Given the description of an element on the screen output the (x, y) to click on. 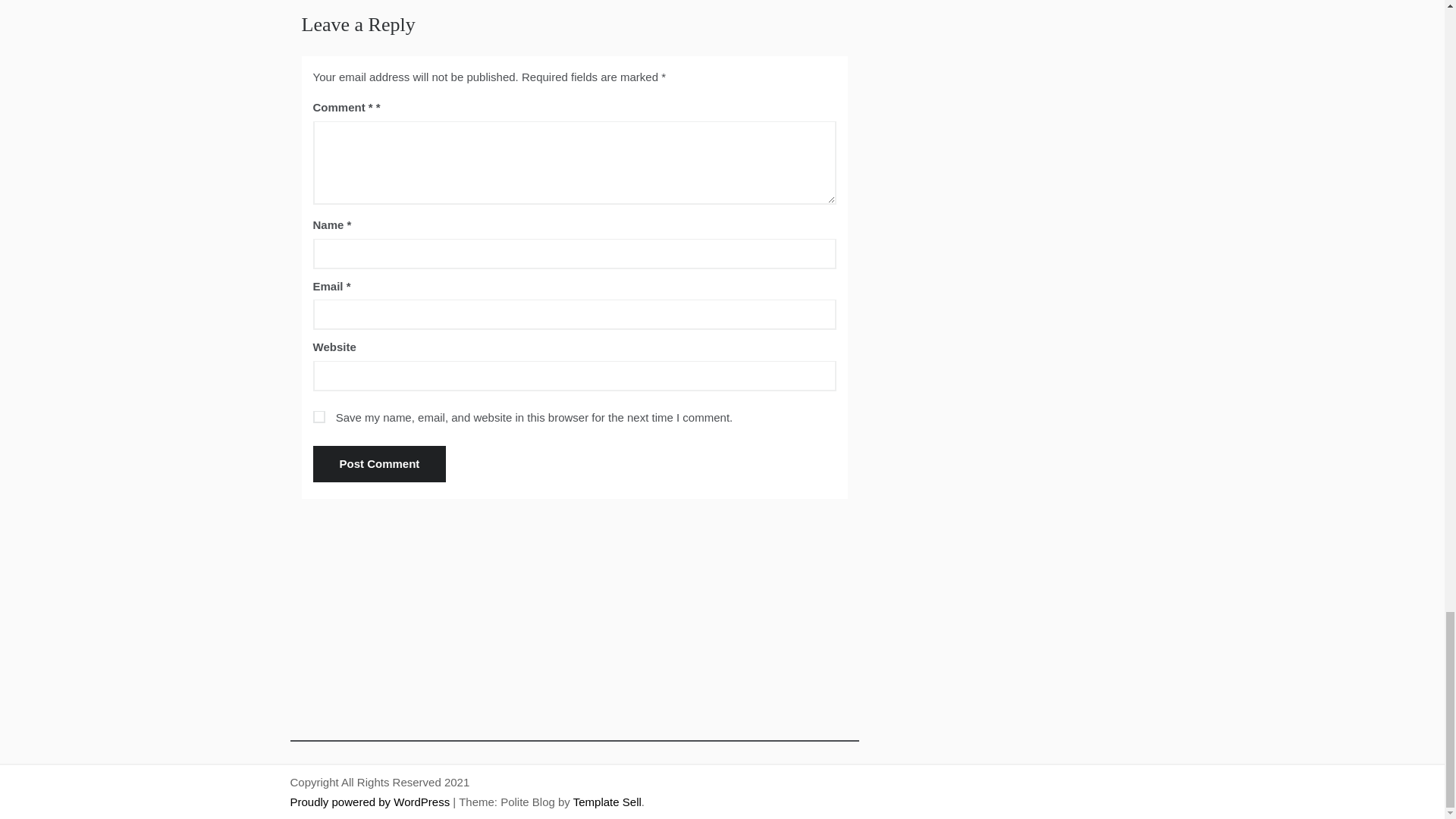
Post Comment (379, 463)
Post Comment (379, 463)
yes (318, 417)
